Given the description of an element on the screen output the (x, y) to click on. 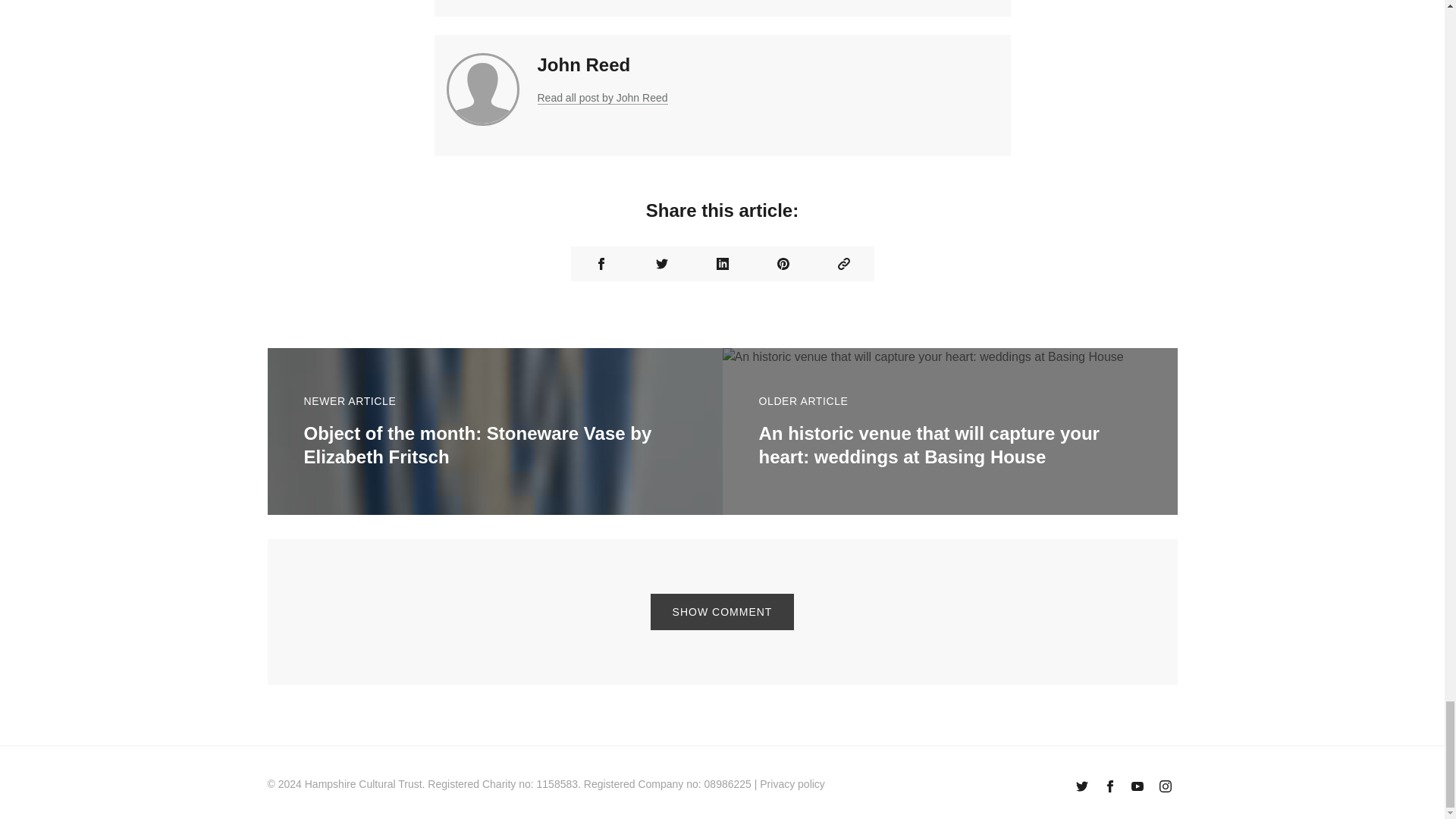
Hampshire Cultural Trust (363, 784)
Read all post by John Reed (601, 97)
Share on Pinterest (782, 263)
SHOW COMMENT (722, 611)
Object of the month: Stoneware Vase by Elizabeth Fritsch (476, 444)
Share on Linkedin (721, 263)
Share on Facebook (600, 263)
Copy the permalink (842, 263)
John Reed (583, 64)
Share on Twitter (660, 263)
